Given the description of an element on the screen output the (x, y) to click on. 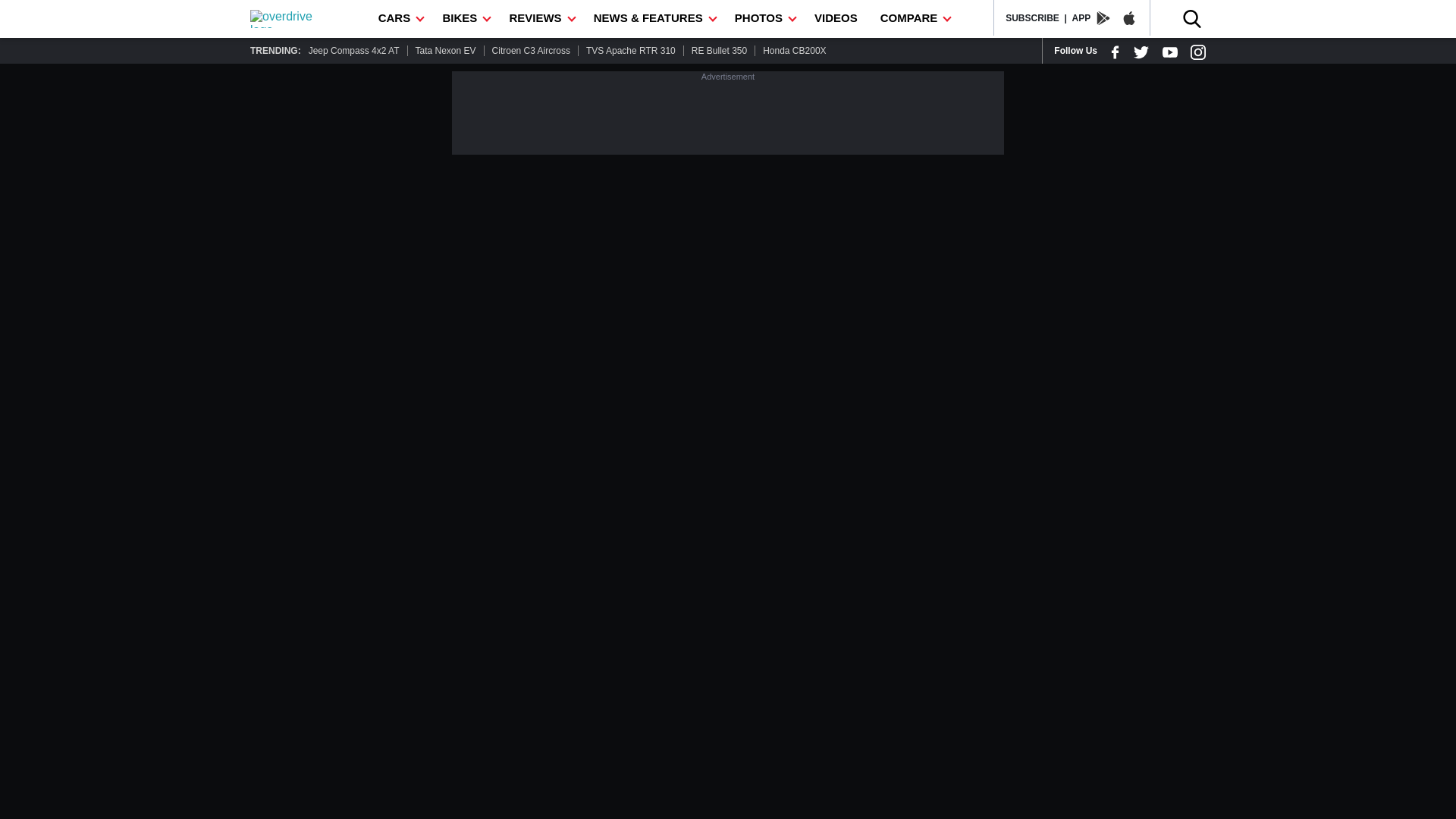
BIKES (463, 18)
CARS (398, 18)
REVIEWS (538, 18)
PHOTOS (763, 18)
